Given the description of an element on the screen output the (x, y) to click on. 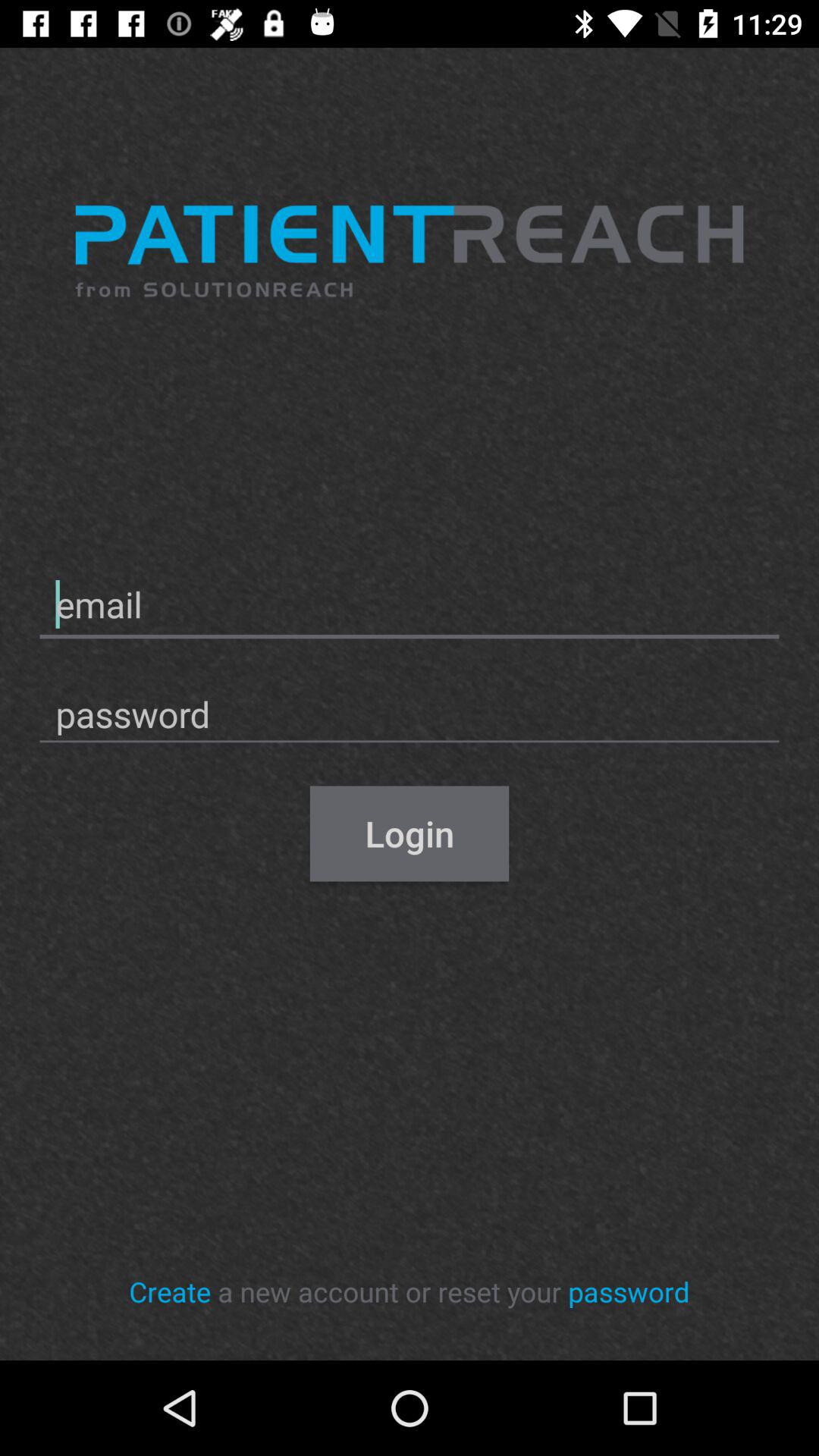
turn on the create icon (170, 1291)
